Given the description of an element on the screen output the (x, y) to click on. 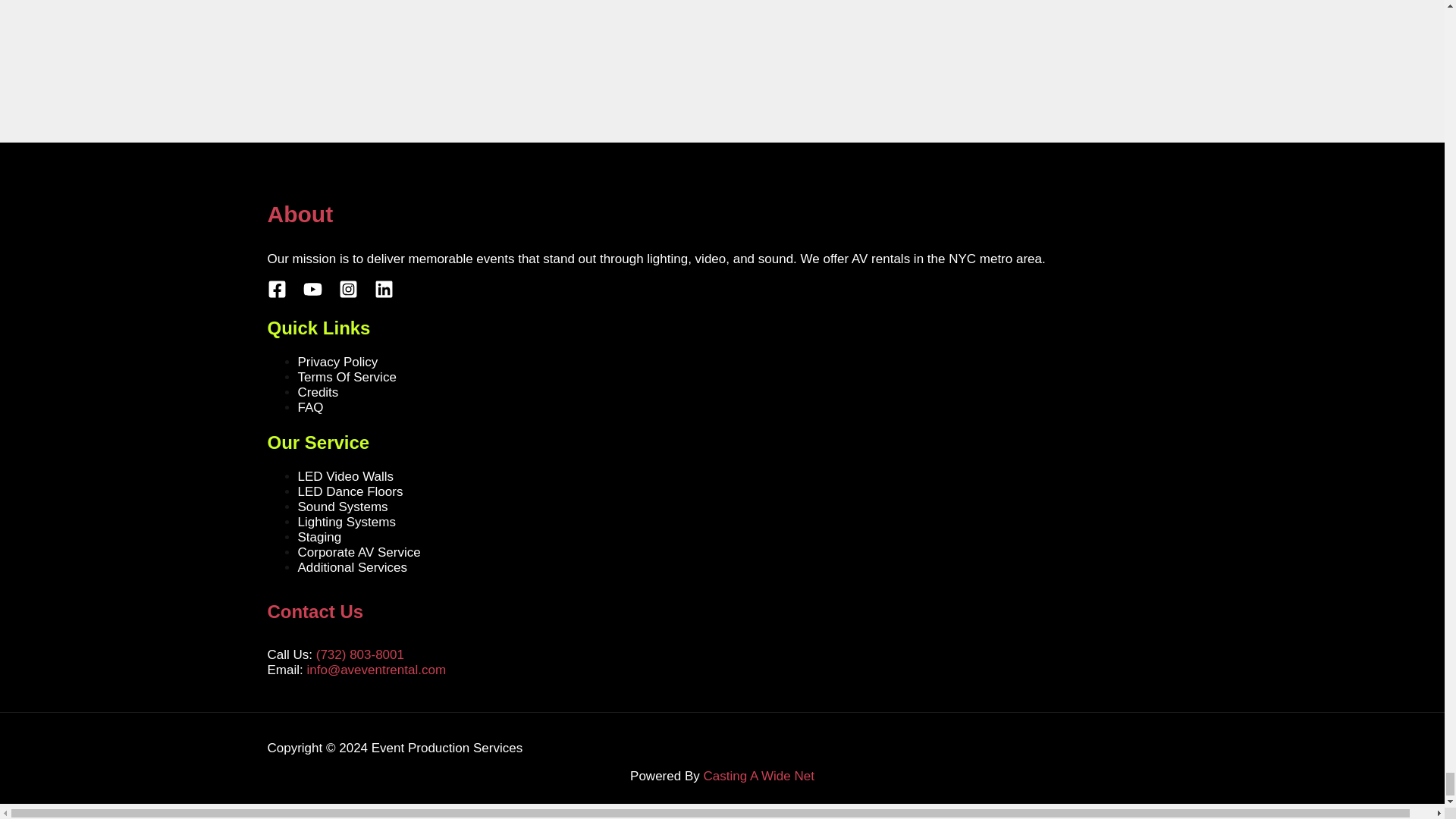
YouTube video player (424, 33)
